Given the description of an element on the screen output the (x, y) to click on. 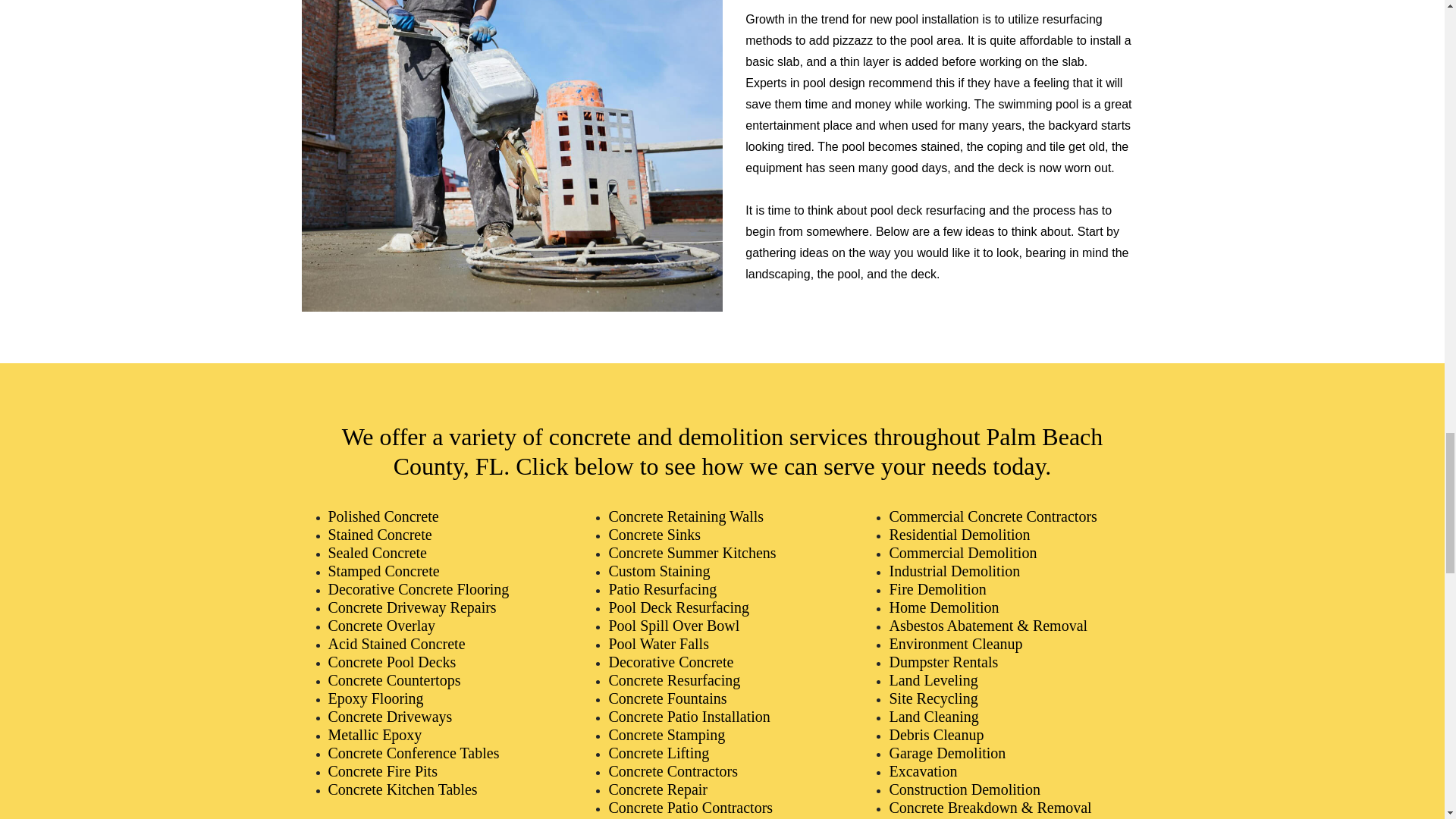
Concrete Retaining Walls (685, 515)
Concrete Conference Tables (413, 752)
Sealed Concrete (376, 552)
Decorative Concrete Flooring (417, 588)
Concrete Fire Pits (381, 770)
Concrete Kitchen Tables (402, 789)
Patio Resurfacing (662, 588)
Pool Water Falls (657, 643)
Custom Staining (659, 570)
Concrete Driveway Repairs (411, 606)
Metallic Epoxy (374, 734)
Pool Spill Over Bowl (673, 625)
Concrete Driveways (389, 716)
Acid Stained Concrete (395, 643)
Stained Concrete (378, 534)
